Given the description of an element on the screen output the (x, y) to click on. 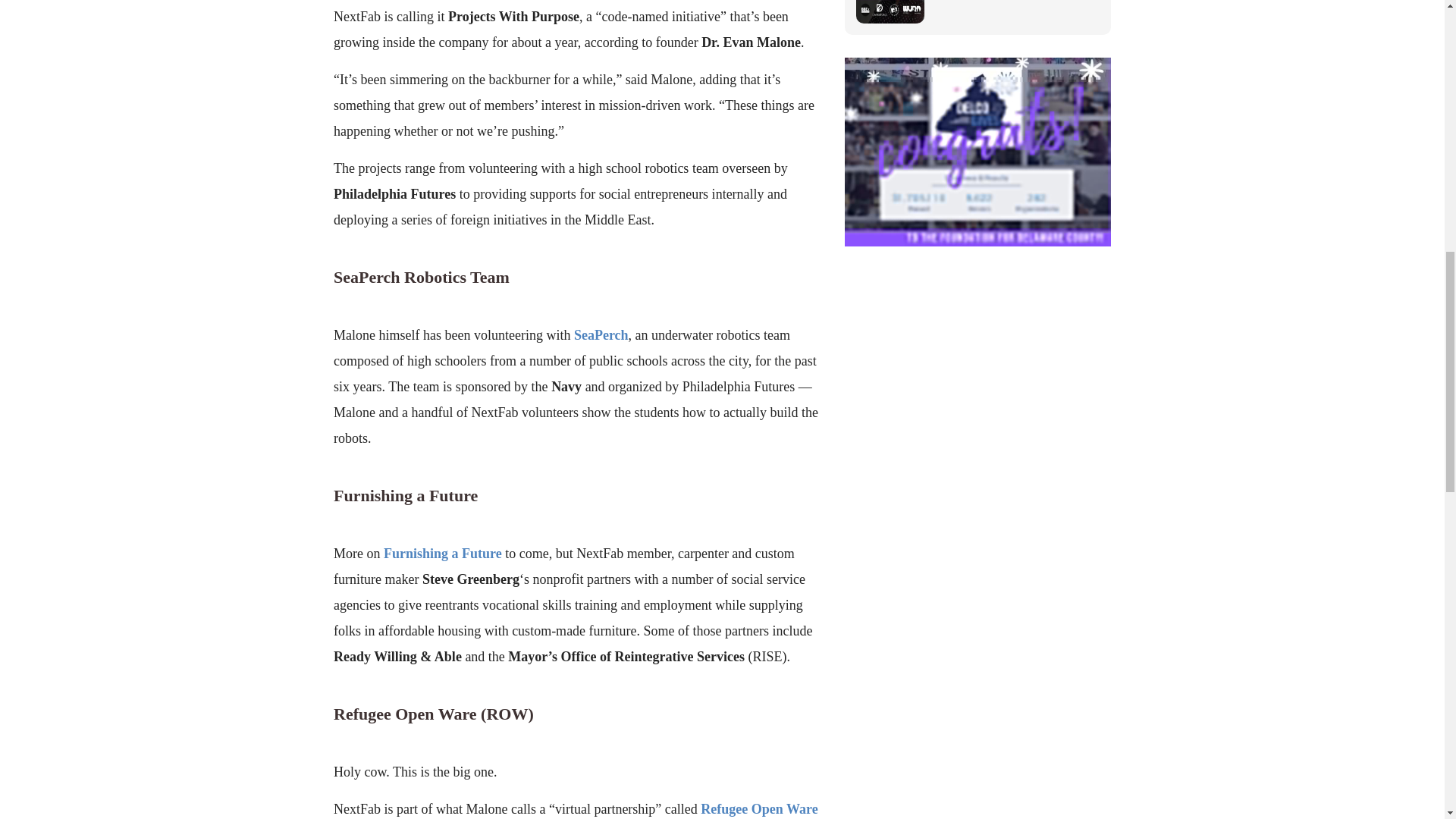
Refugee Open Ware (758, 808)
SeaPerch (600, 335)
Furnishing a Future (443, 553)
